Given the description of an element on the screen output the (x, y) to click on. 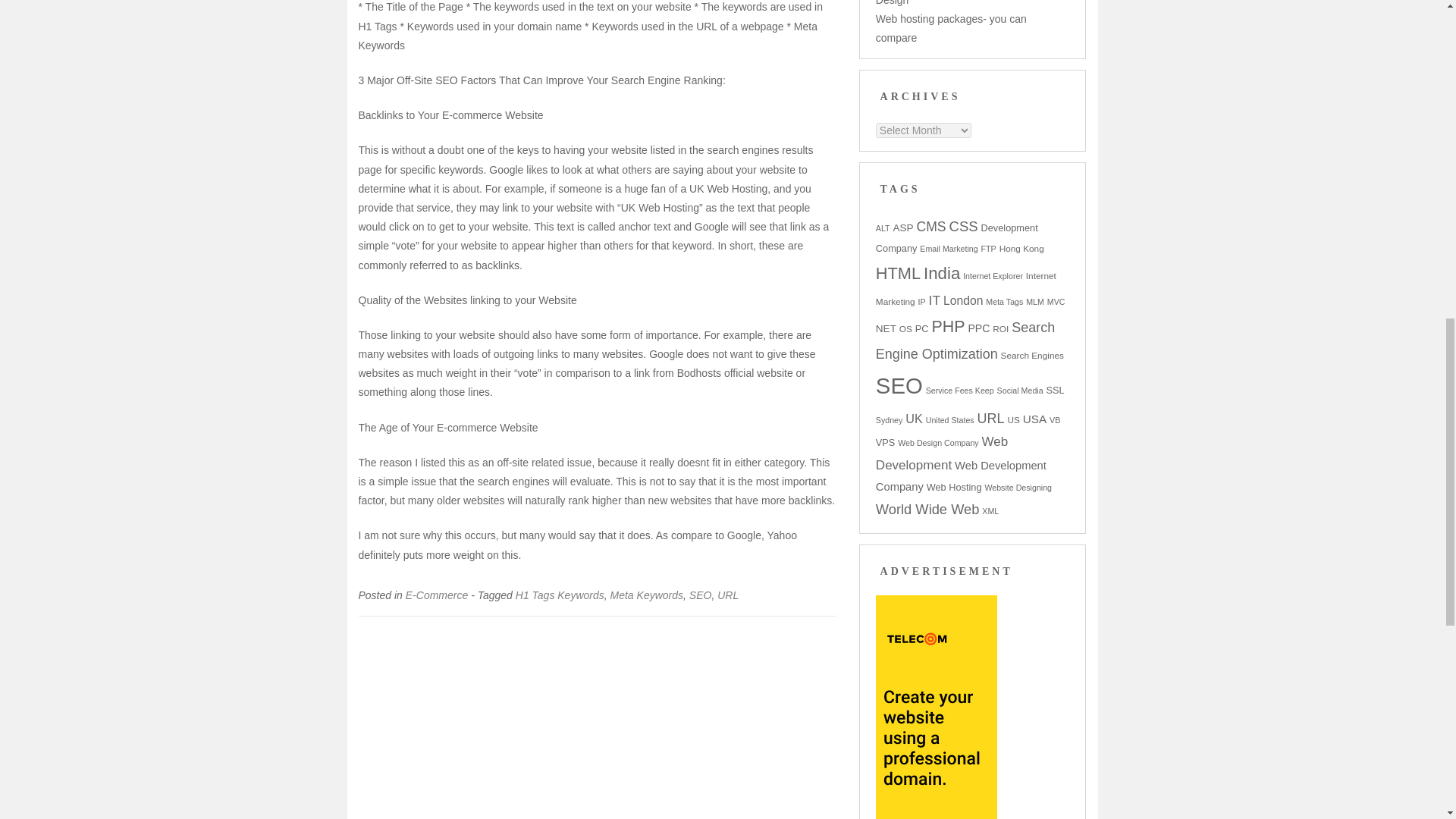
E-Commerce (436, 594)
Meta Keywords (646, 594)
The Purpose Of E-commerce Web Design (957, 2)
URL (727, 594)
SEO (699, 594)
H1 Tags Keywords (559, 594)
Web hosting packages- you can compare (951, 28)
